Given the description of an element on the screen output the (x, y) to click on. 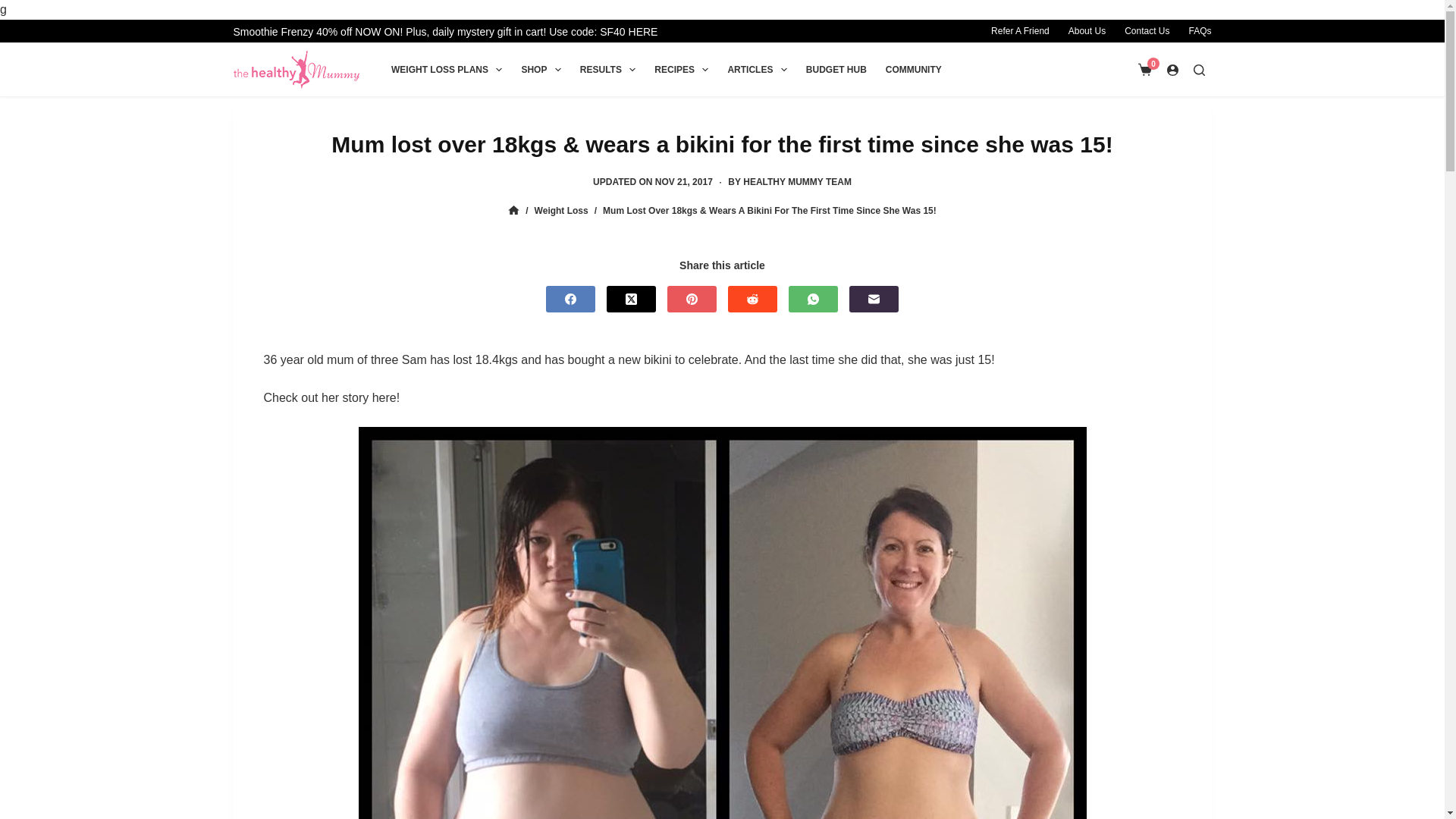
Posts by Healthy Mummy Team (796, 181)
Get our offer (445, 31)
Skip to content (15, 7)
